Given the description of an element on the screen output the (x, y) to click on. 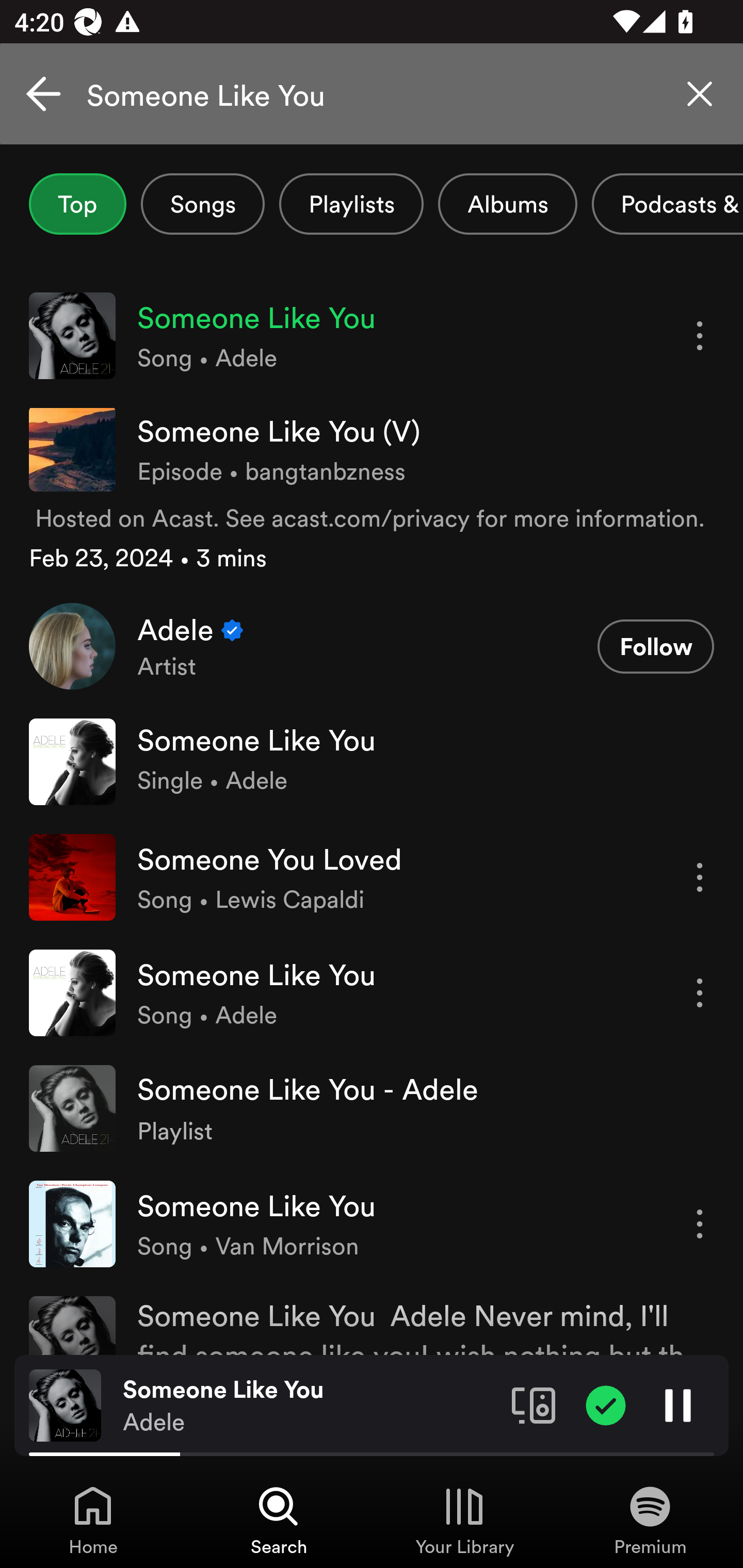
Someone Like You (371, 93)
Cancel (43, 93)
Clear search query (699, 93)
Top (77, 203)
Songs (202, 203)
Playlists (351, 203)
Albums (507, 203)
Podcasts & Shows (667, 203)
More options for song Someone Like You (699, 336)
Adele Verified Artist Follow Follow (371, 646)
Follow (655, 646)
Someone Like You Single • Adele (371, 762)
More options for song Someone You Loved (699, 877)
More options for song Someone Like You (699, 993)
Someone Like You - Adele Playlist (371, 1108)
More options for song Someone Like You (699, 1223)
Someone Like You Adele (309, 1405)
The cover art of the currently playing track (64, 1404)
Connect to a device. Opens the devices menu (533, 1404)
Item added (605, 1404)
Pause (677, 1404)
Home, Tab 1 of 4 Home Home (92, 1519)
Search, Tab 2 of 4 Search Search (278, 1519)
Your Library, Tab 3 of 4 Your Library Your Library (464, 1519)
Premium, Tab 4 of 4 Premium Premium (650, 1519)
